Given the description of an element on the screen output the (x, y) to click on. 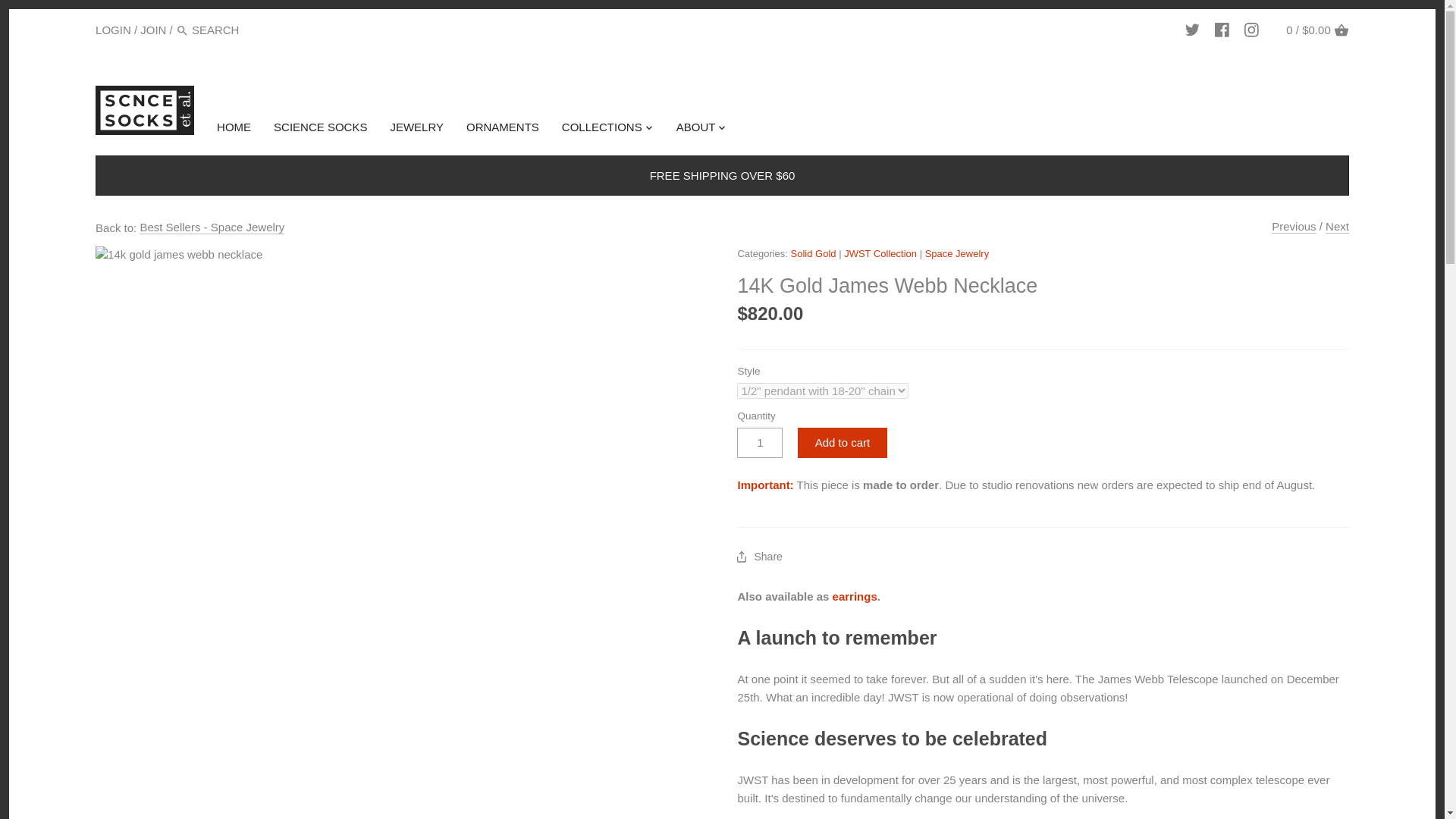
INSTAGRAM (1250, 29)
TWITTER (1192, 29)
ABOUT (695, 129)
ORNAMENTS (502, 129)
Next (1336, 226)
JEWELRY (416, 129)
Share (758, 556)
JWST Collection (880, 253)
COLLECTIONS (601, 129)
SCIENCE SOCKS (320, 129)
